Given the description of an element on the screen output the (x, y) to click on. 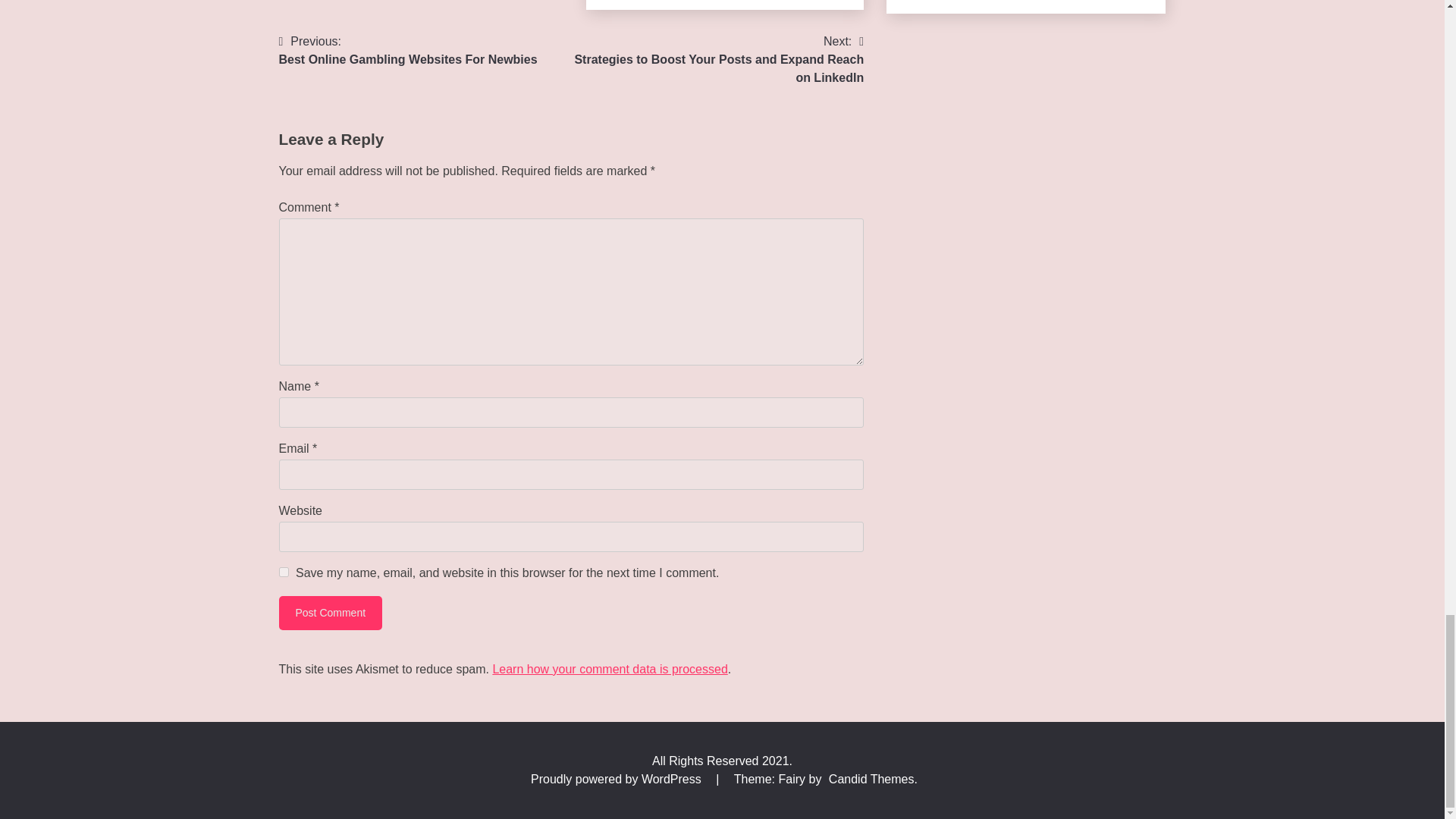
Post Comment (330, 612)
yes (283, 572)
Post Comment (408, 50)
Learn how your comment data is processed (330, 612)
